Given the description of an element on the screen output the (x, y) to click on. 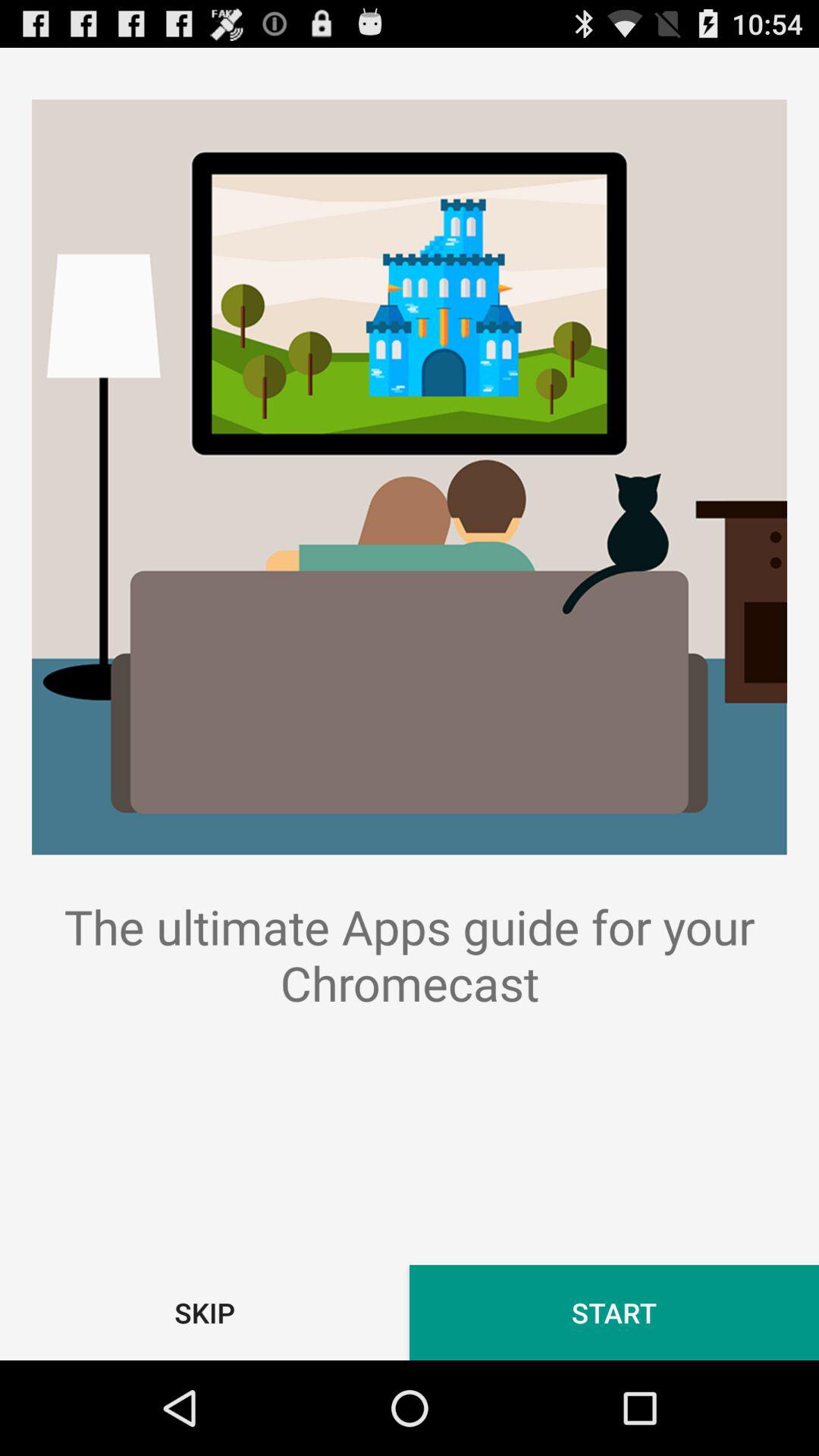
turn on the button next to start button (204, 1312)
